Given the description of an element on the screen output the (x, y) to click on. 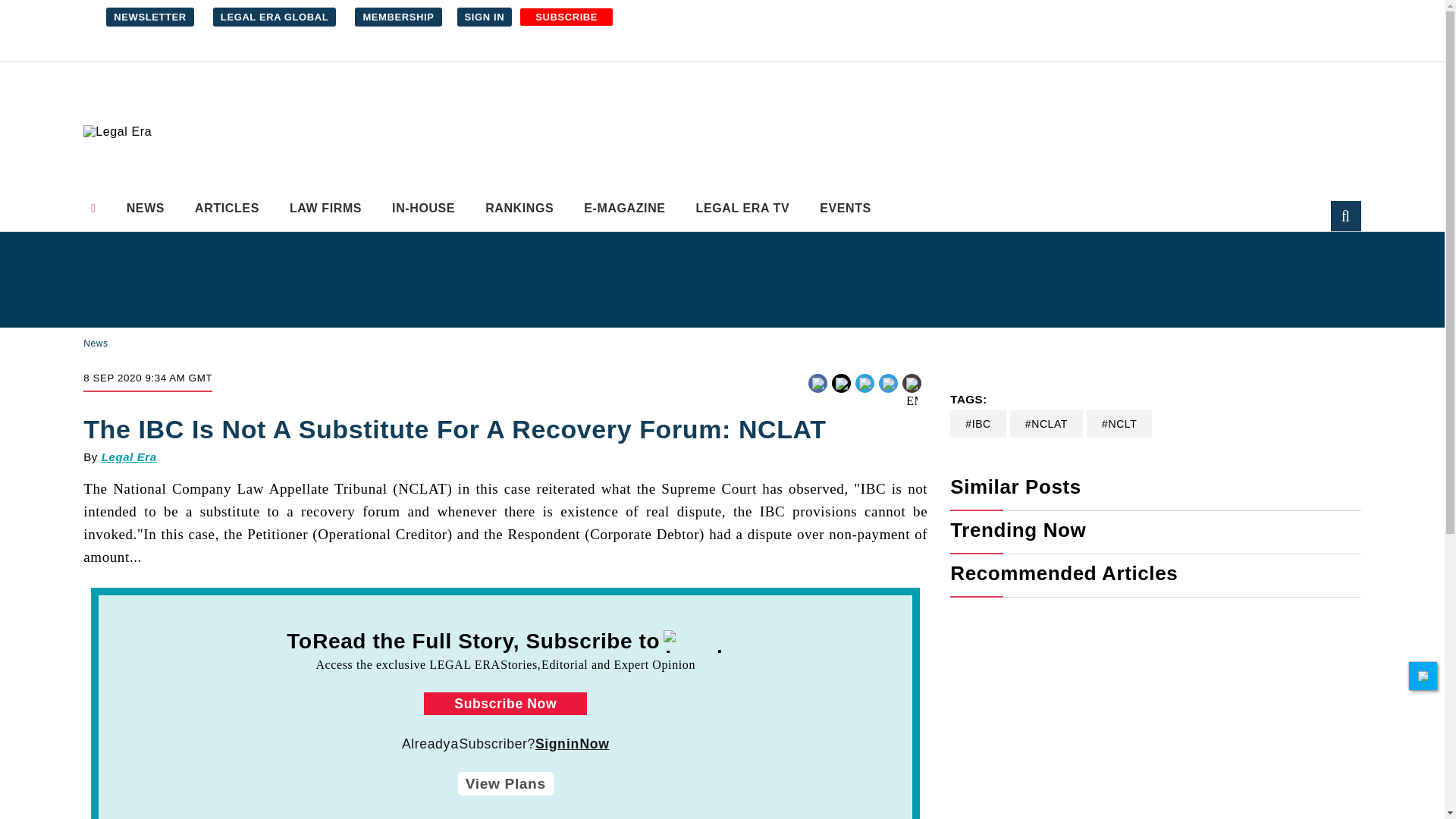
Legal Era (116, 131)
SUBSCRIBE (566, 16)
SIGN IN (484, 16)
twitter (863, 394)
Facebook (845, 381)
Share by Email (911, 384)
Twitter (863, 381)
NEWSLETTER (149, 16)
linkedin (889, 394)
facebook (846, 394)
